Given the description of an element on the screen output the (x, y) to click on. 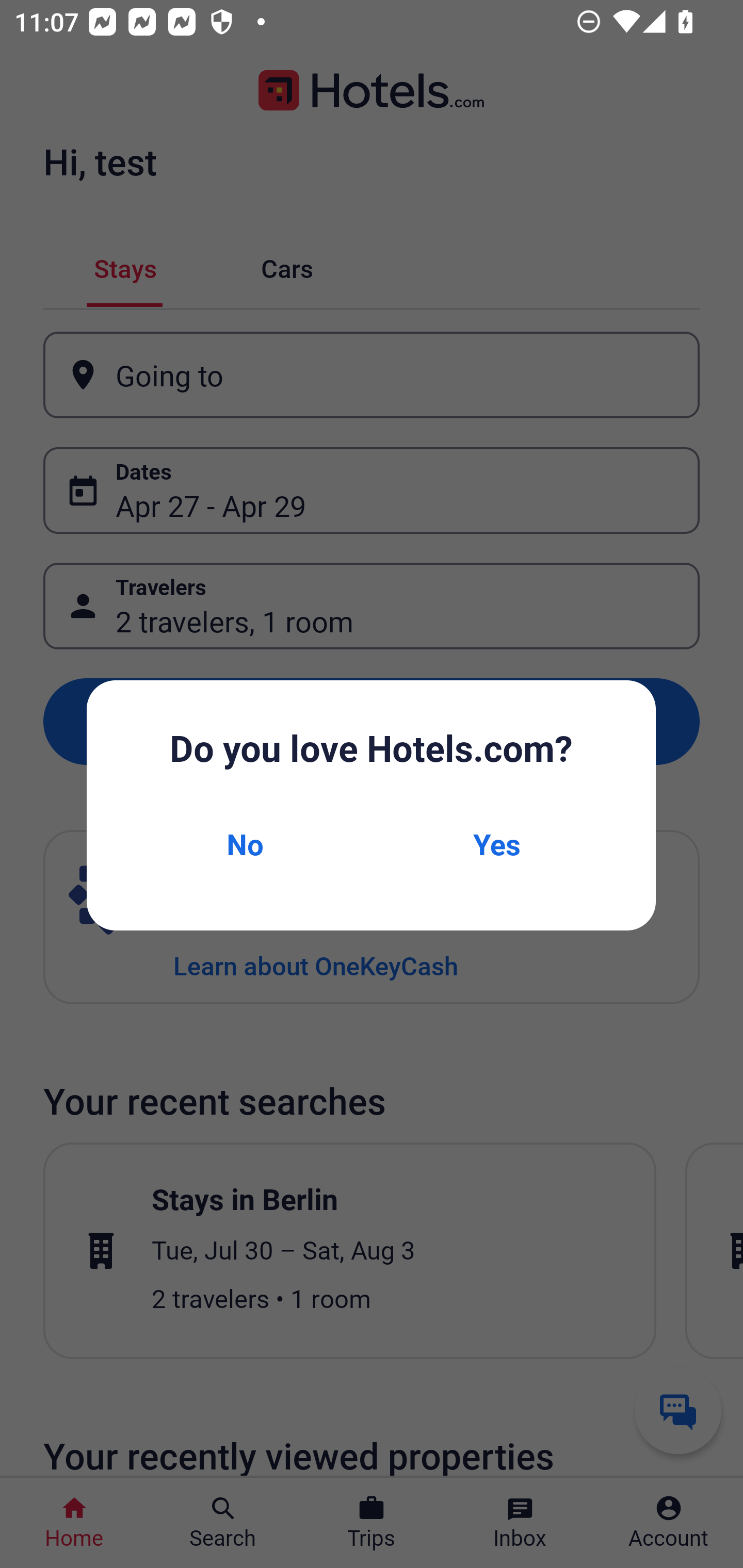
No (245, 844)
Yes (496, 844)
